Given the description of an element on the screen output the (x, y) to click on. 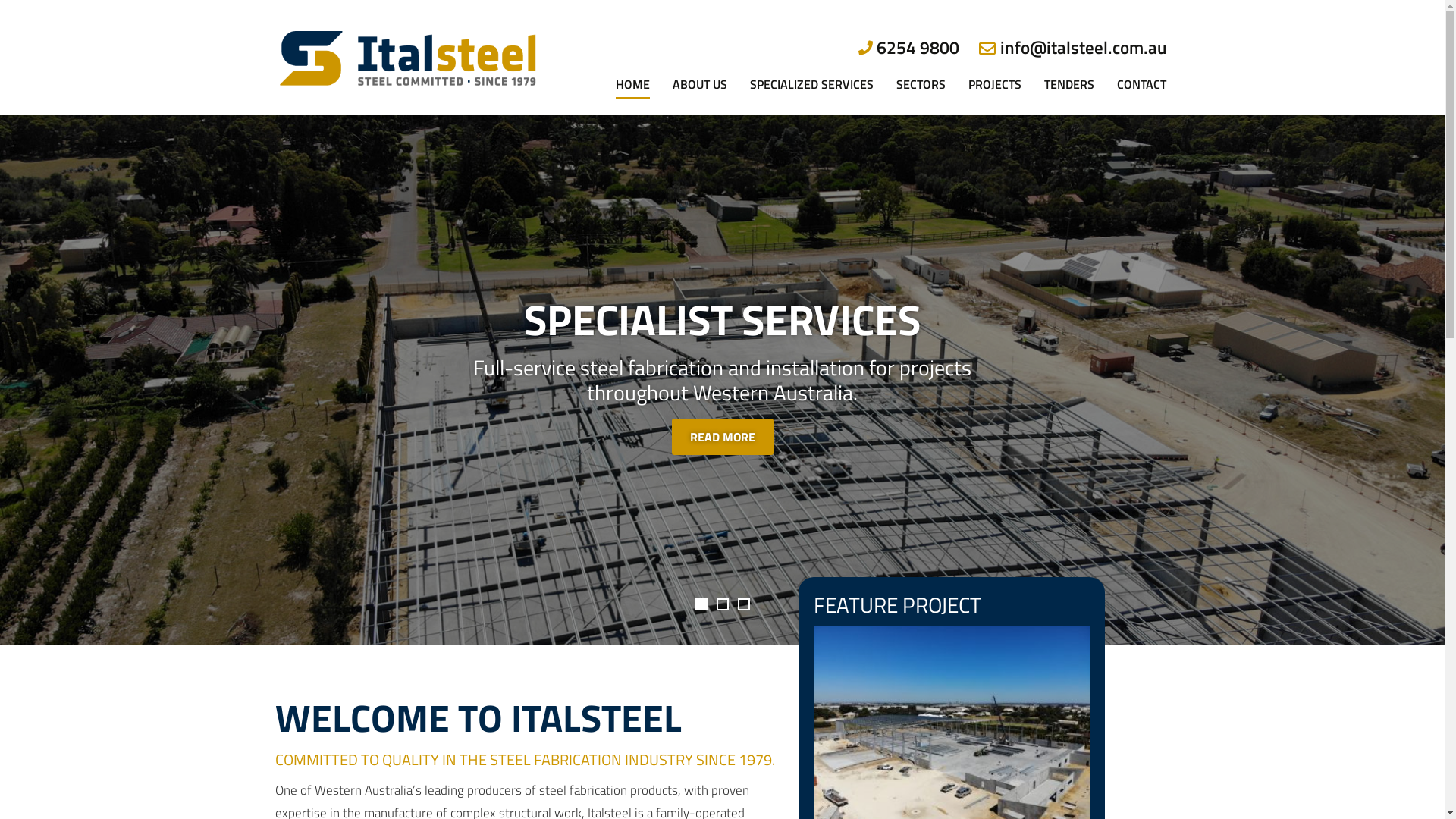
SECTORS Element type: text (919, 58)
info@italsteel.com.au Element type: text (1082, 47)
PROJECTS Element type: text (994, 58)
ABOUT US Element type: text (699, 58)
SPECIALIZED SERVICES Element type: text (811, 58)
6254 9800 Element type: text (917, 47)
CONTACT Element type: text (1141, 58)
READ MORE Element type: text (721, 436)
HOME Element type: text (631, 58)
Steel Committed Since 1979 Element type: hover (408, 57)
TENDERS Element type: text (1069, 58)
